Given the description of an element on the screen output the (x, y) to click on. 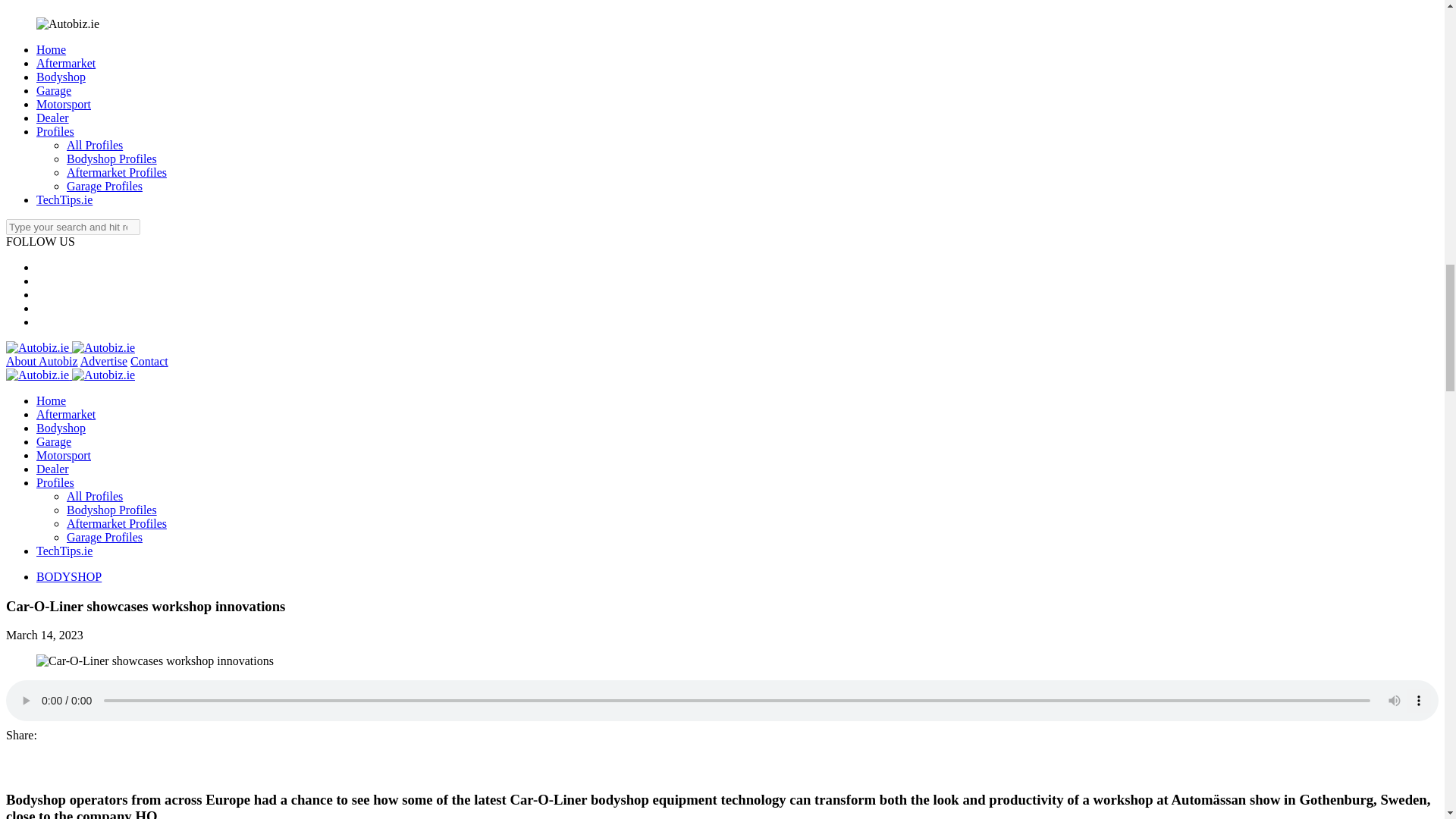
TechTips.ie (64, 199)
Garage Profiles (104, 185)
Dealer (52, 117)
Home (50, 49)
Garage (53, 90)
Bodyshop Profiles (111, 158)
Contact (149, 360)
Advertise (104, 360)
Bodyshop (60, 76)
Profiles (55, 131)
All Profiles (94, 144)
Motorsport (63, 103)
Aftermarket (66, 62)
Aftermarket Profiles (116, 172)
About Autobiz (41, 360)
